Given the description of an element on the screen output the (x, y) to click on. 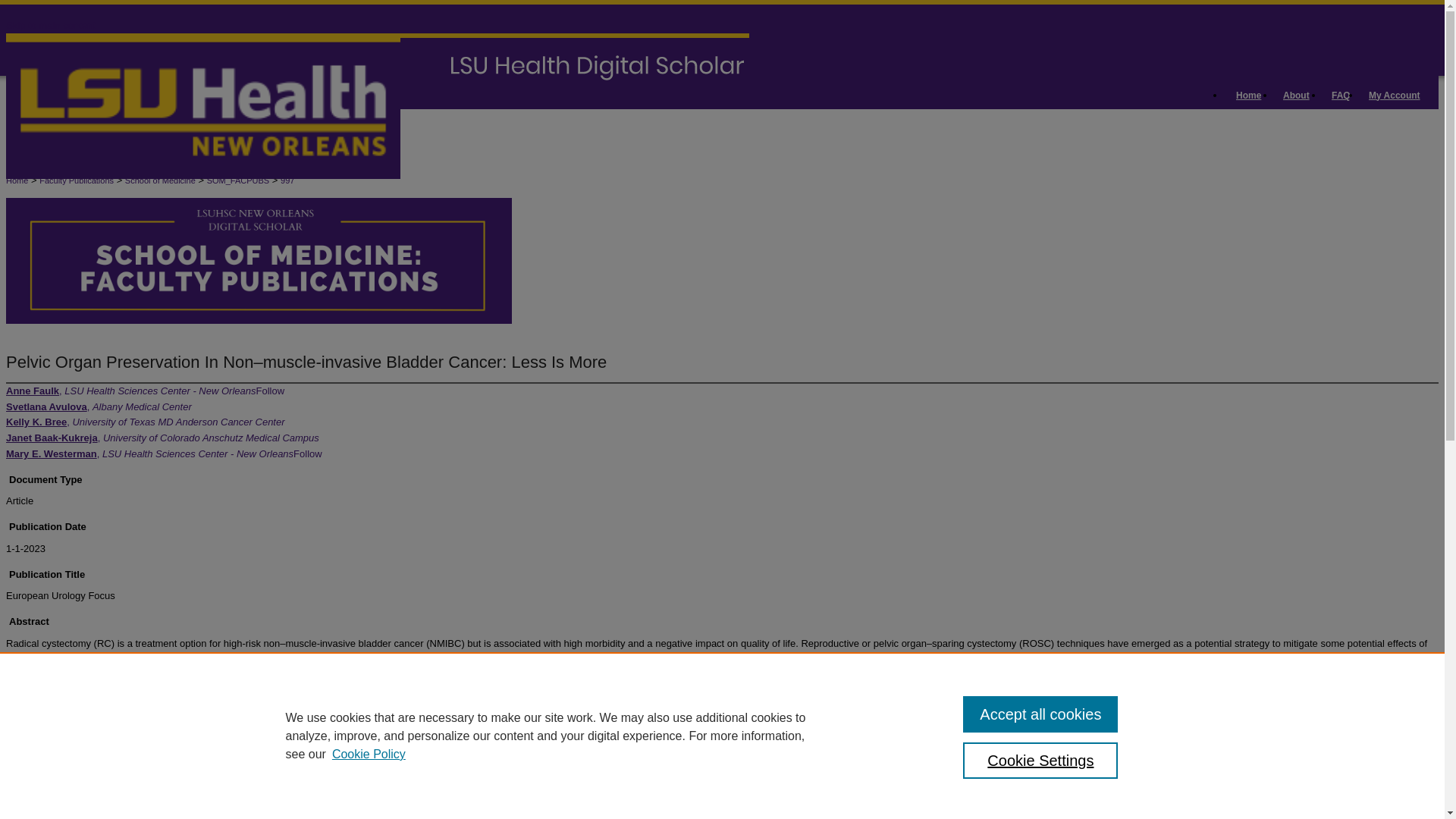
Link to Full Text (66, 805)
About (1299, 94)
Home (1249, 94)
Follow Anne Faulk (269, 390)
Mary E. Westerman, LSU Health Sciences Center - New Orleans (149, 453)
Svetlana Avulova, Albany Medical Center (98, 406)
Follow (269, 390)
School of Medicine (160, 180)
Anne Faulk, LSU Health Sciences Center - New Orleans (130, 390)
SCHOOL OF MEDICINE FACULTY PUBLICATIONS (224, 345)
Skip to main content (50, 25)
About (1299, 94)
Link opens in new window (66, 805)
Follow (307, 453)
